Given the description of an element on the screen output the (x, y) to click on. 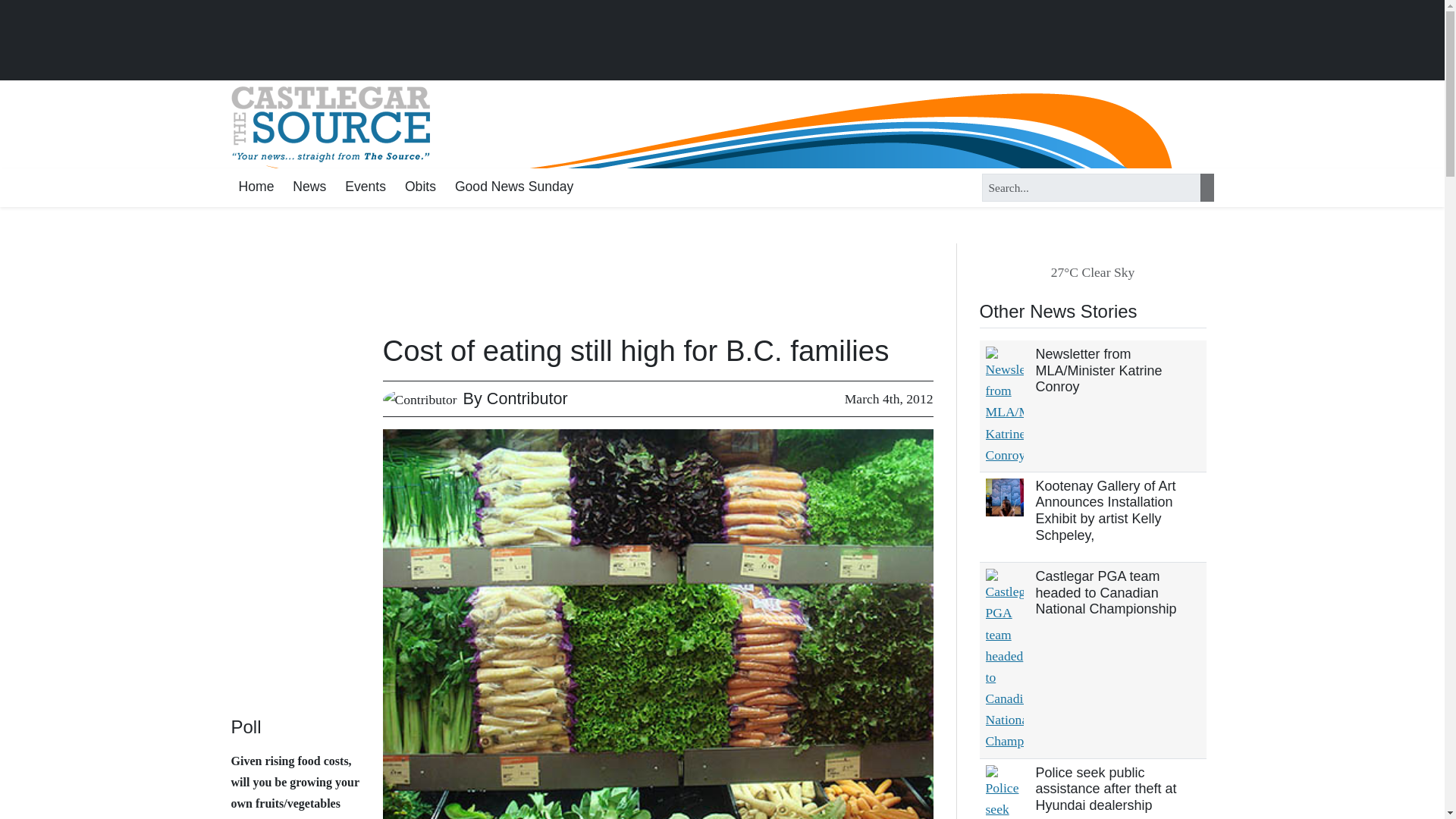
News (309, 187)
Obits (420, 187)
Home (255, 187)
Events (365, 187)
Good News Sunday (513, 187)
Castlegar PGA team headed to Canadian National Championship (1105, 592)
